Given the description of an element on the screen output the (x, y) to click on. 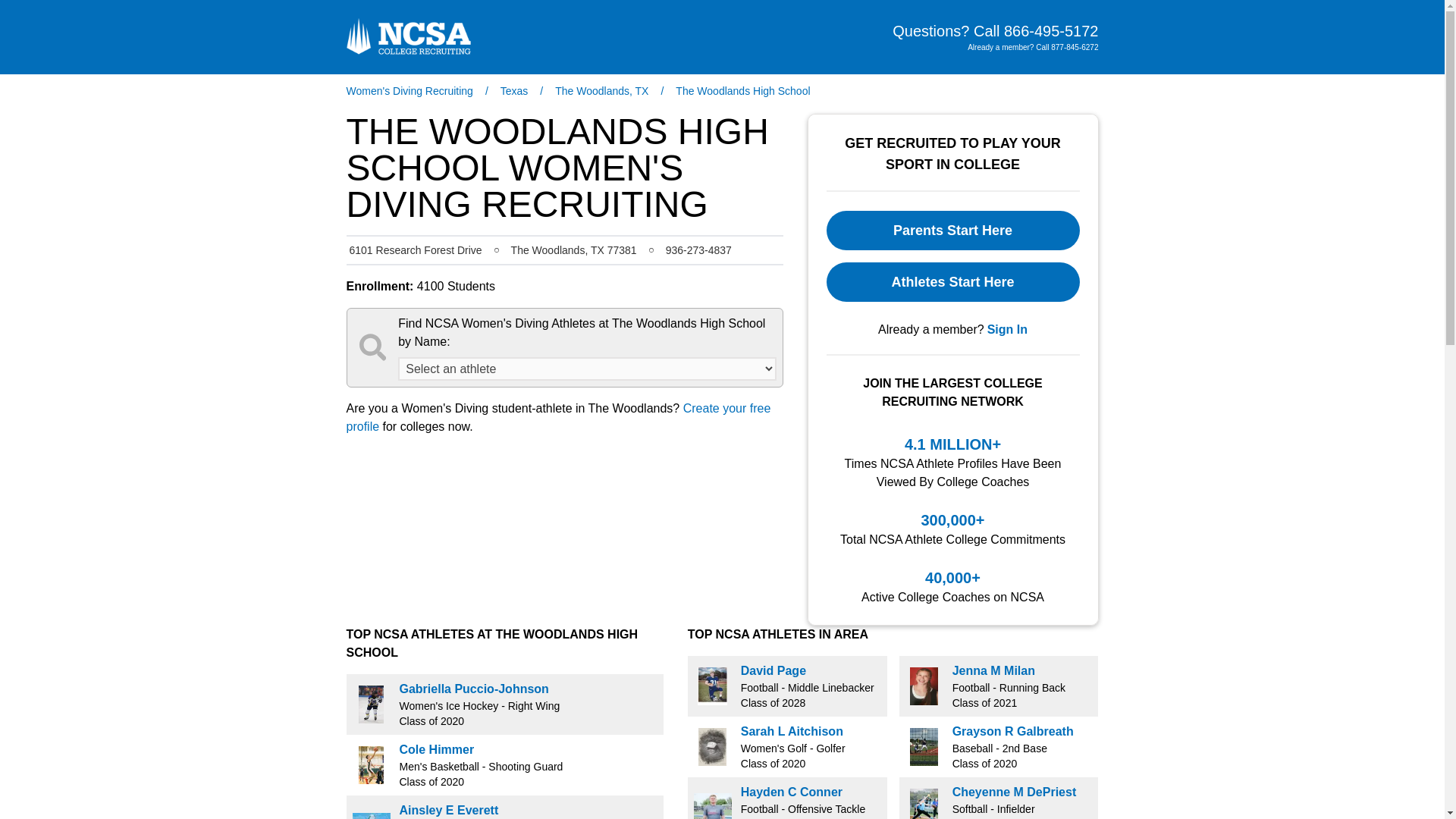
Create your free profile (558, 417)
The Woodlands, TX (600, 90)
Gabriella Puccio-Johnson (473, 688)
Sarah L Aitchison (792, 730)
Cole Himmer (436, 748)
Jenna M Milan (993, 670)
Athletes Start Here (953, 282)
Parents Start Here (953, 230)
Ainsley E Everett (447, 809)
Cheyenne M DePriest (1014, 791)
Questions? Call 866-495-5172 (994, 30)
David Page (773, 670)
Sign In (1007, 330)
Women's Diving Recruiting (408, 90)
Grayson R Galbreath (1013, 730)
